Given the description of an element on the screen output the (x, y) to click on. 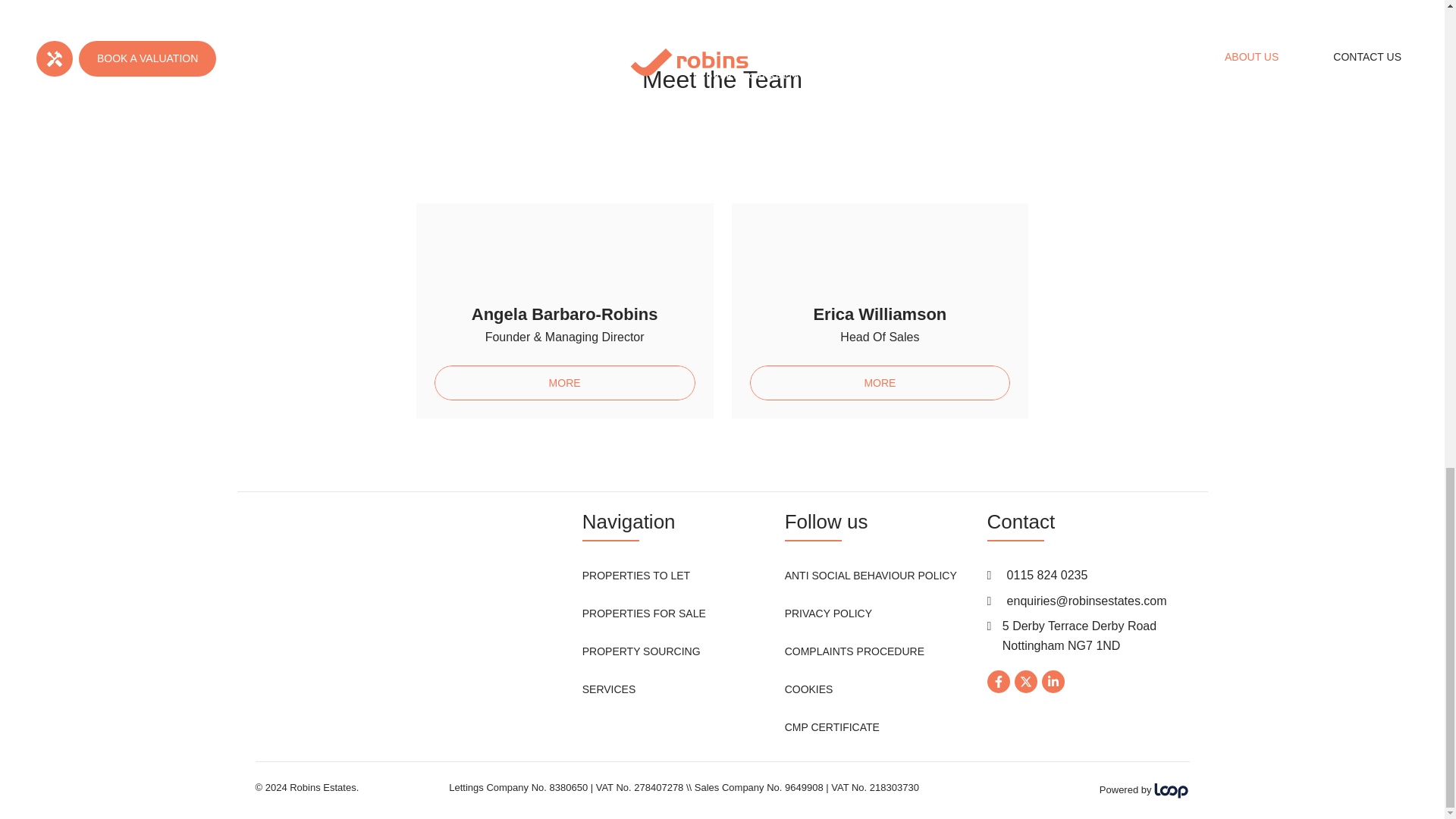
PRIVACY POLICY (828, 613)
ANTI SOCIAL BEHAVIOUR POLICY (870, 575)
0115 824 0235 (1047, 575)
PROPERTY SOURCING (641, 651)
COOKIES (808, 689)
CMP CERTIFICATE (831, 726)
PROPERTIES TO LET (636, 575)
COMPLAINTS PROCEDURE (854, 651)
MORE (879, 381)
MORE (564, 381)
